Given the description of an element on the screen output the (x, y) to click on. 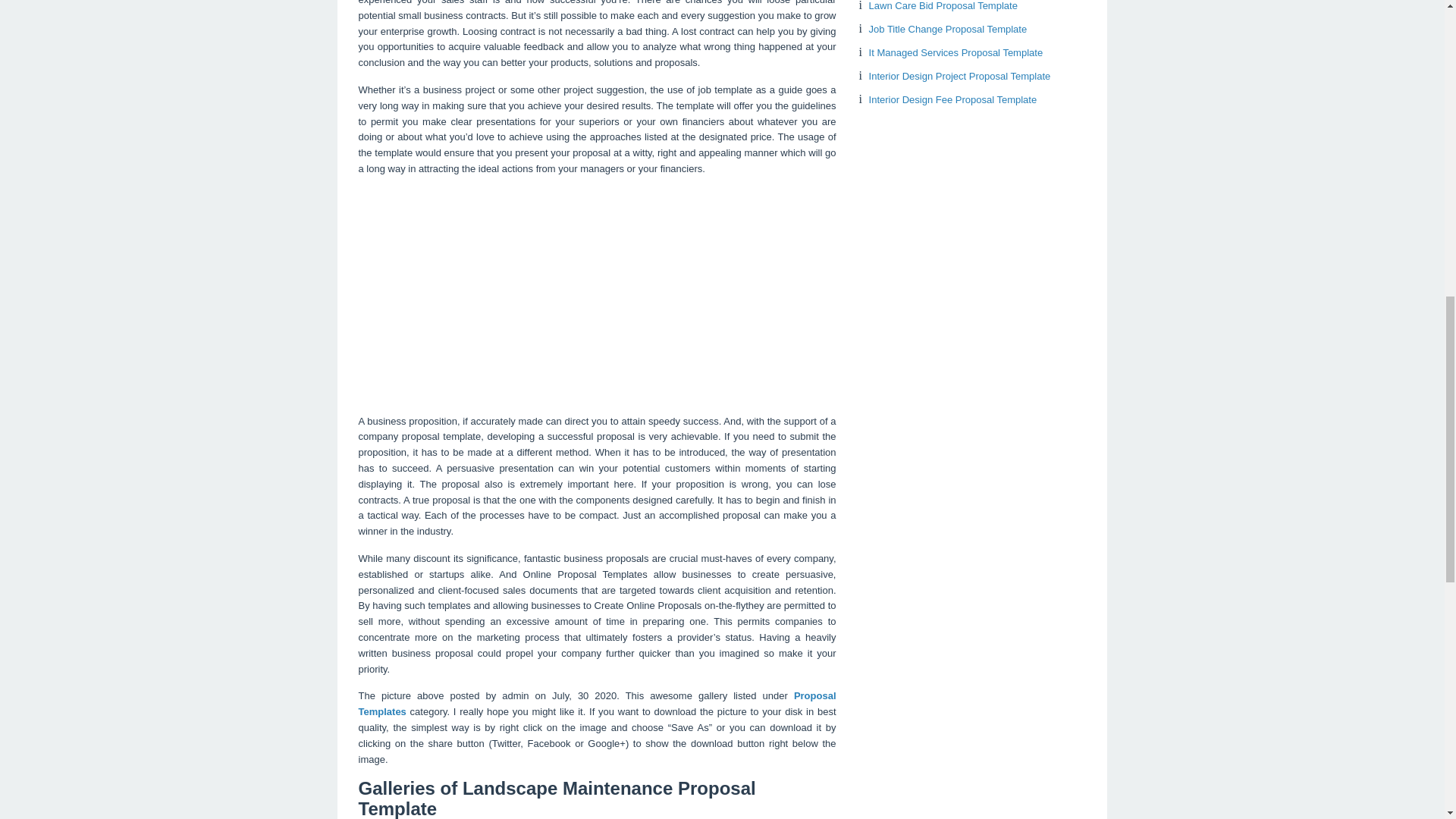
Interior Design Fee Proposal Template (952, 99)
Interior Design Project Proposal Template (960, 75)
It Managed Services Proposal Template (956, 52)
Lawn Care Bid Proposal Template (943, 5)
Job Title Change Proposal Template (948, 29)
Proposal Templates (596, 703)
